Given the description of an element on the screen output the (x, y) to click on. 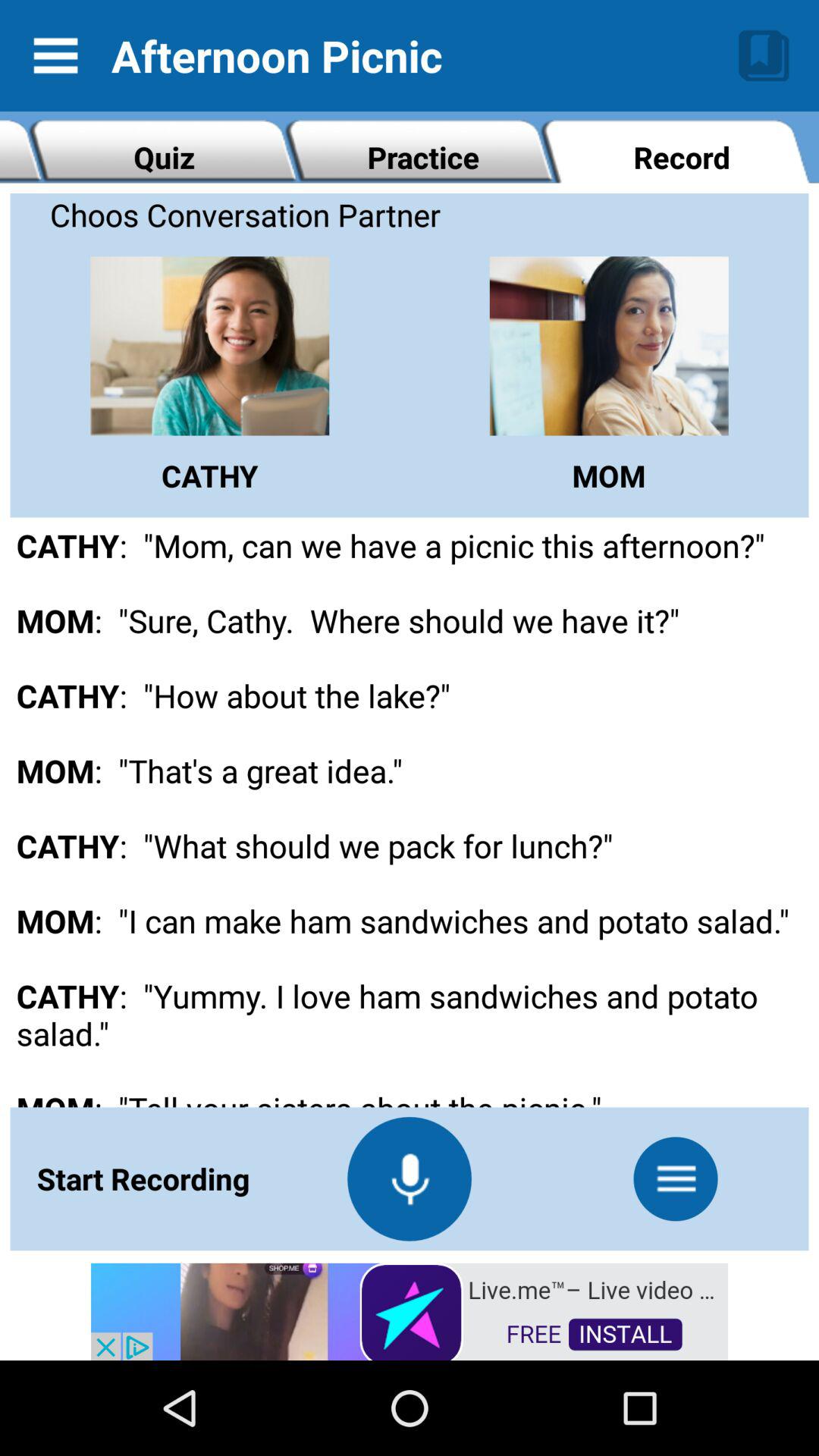
recorder icon (409, 1178)
